Given the description of an element on the screen output the (x, y) to click on. 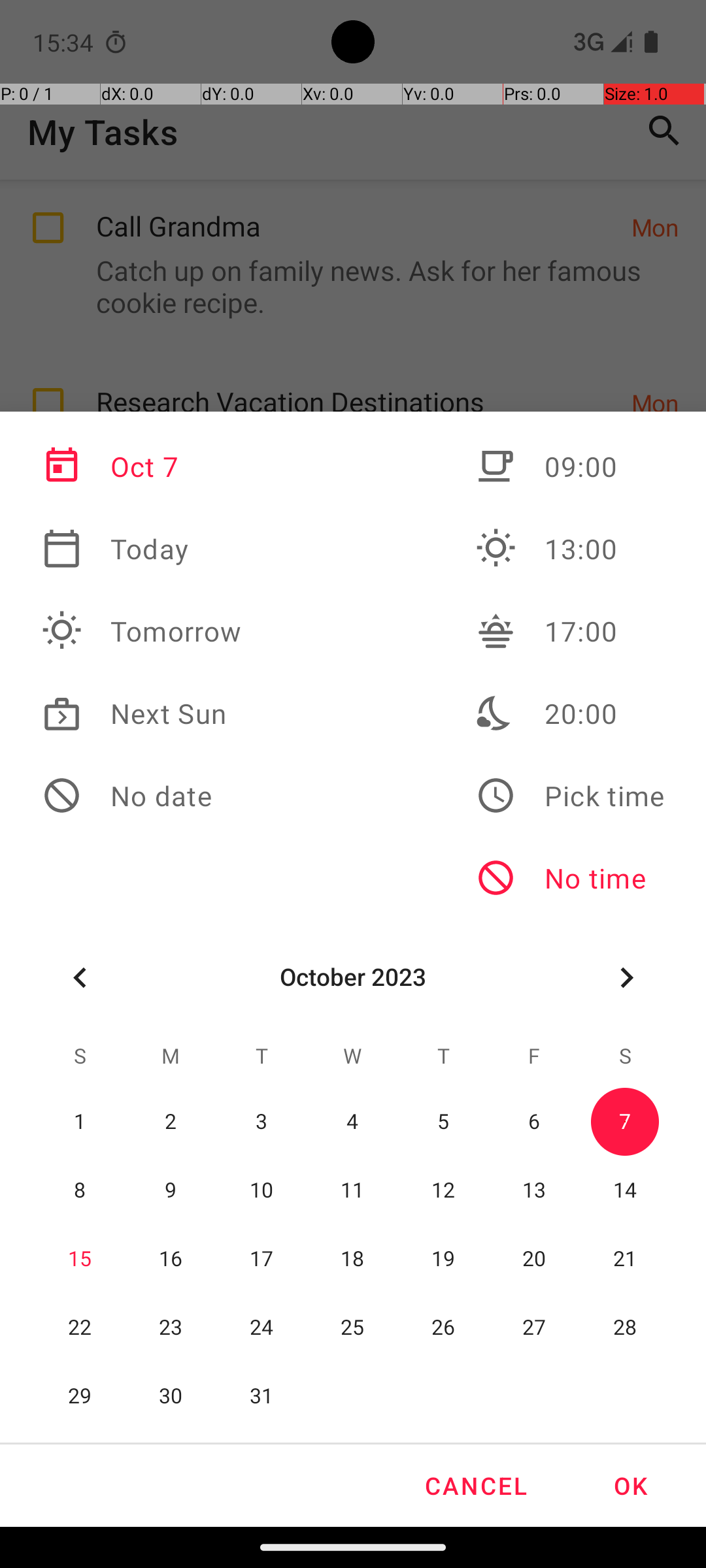
Oct 7 Element type: android.widget.CompoundButton (141, 466)
